Given the description of an element on the screen output the (x, y) to click on. 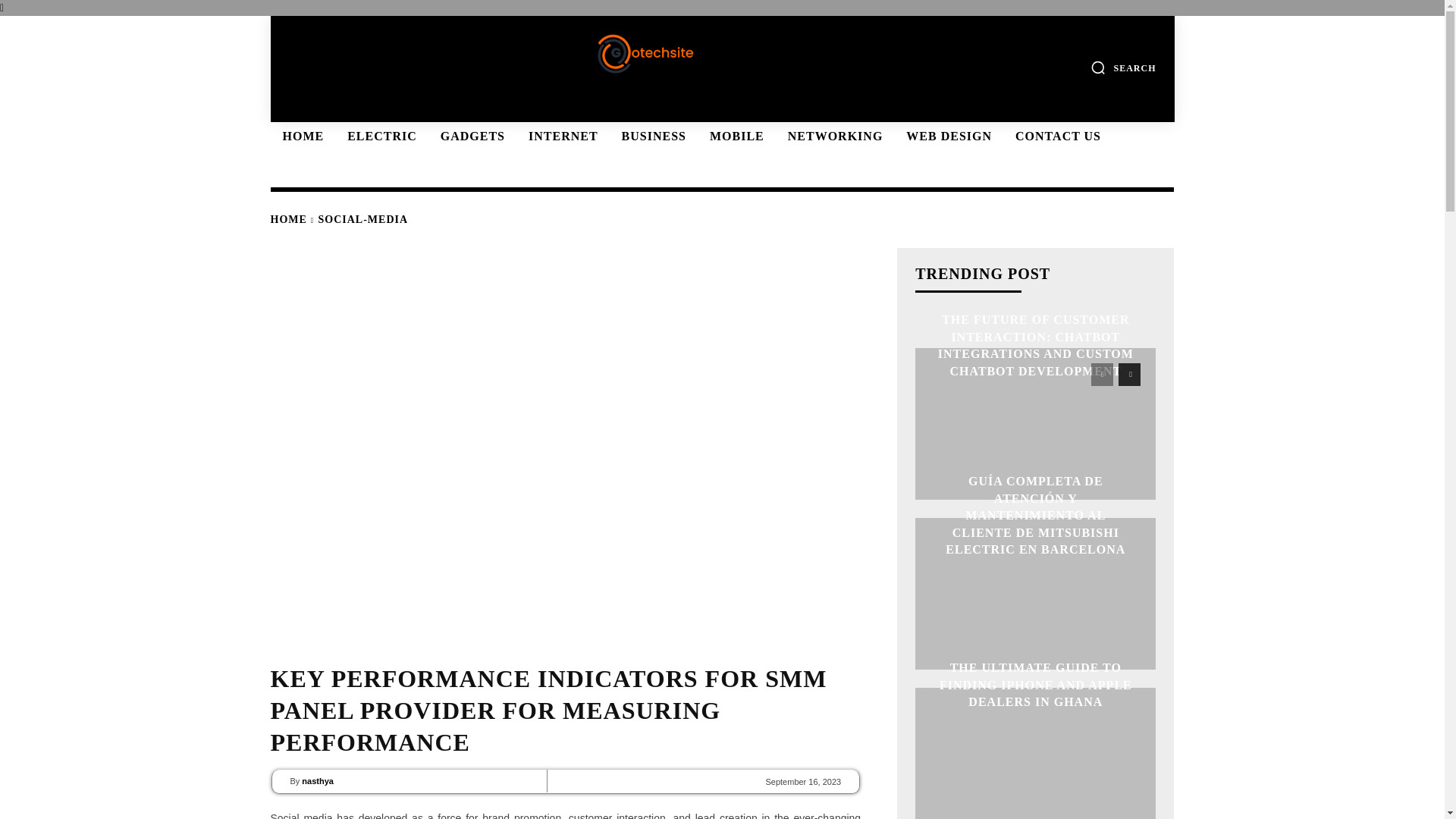
ELECTRIC (379, 136)
SOCIAL-MEDIA (363, 219)
HOME (300, 136)
HOME (287, 219)
INTERNET (560, 136)
CONTACT US (1055, 136)
View all posts in Social-media (363, 219)
